Given the description of an element on the screen output the (x, y) to click on. 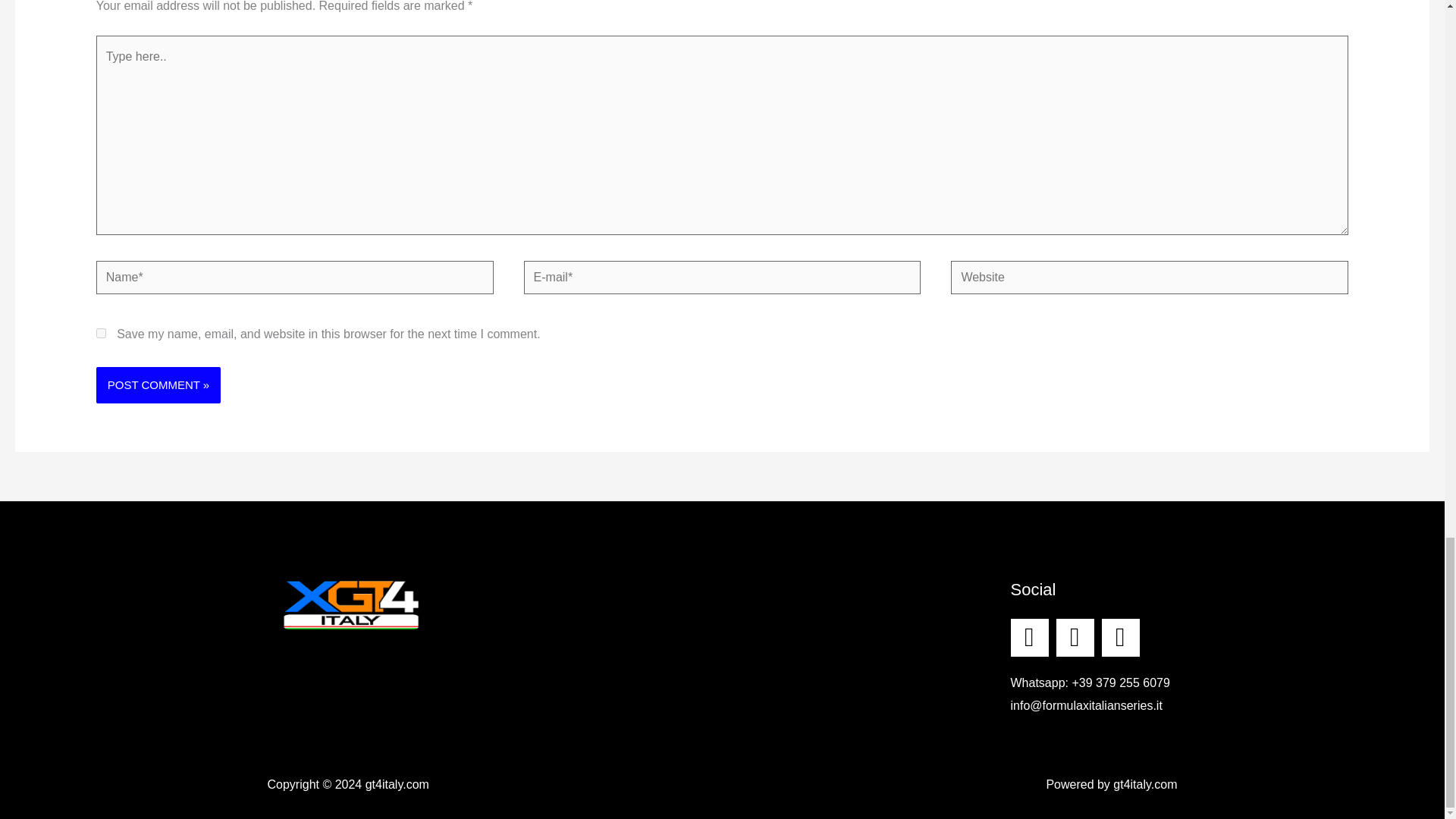
yes (101, 333)
